Given the description of an element on the screen output the (x, y) to click on. 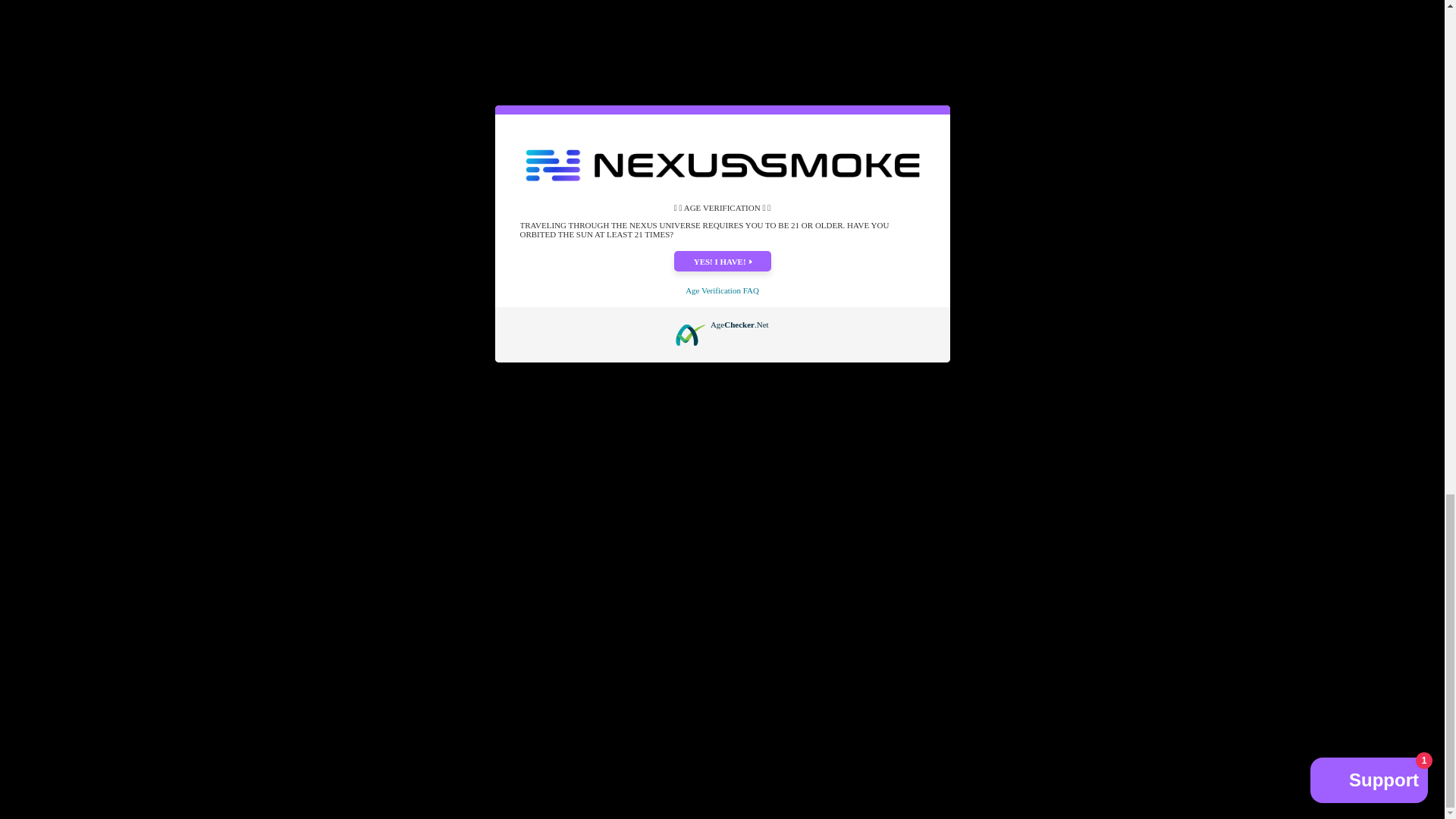
Twitter - Nexus Smoke (340, 465)
TikTok - Nexus Smoke (374, 465)
Instagram - Nexus Smoke (358, 465)
